Given the description of an element on the screen output the (x, y) to click on. 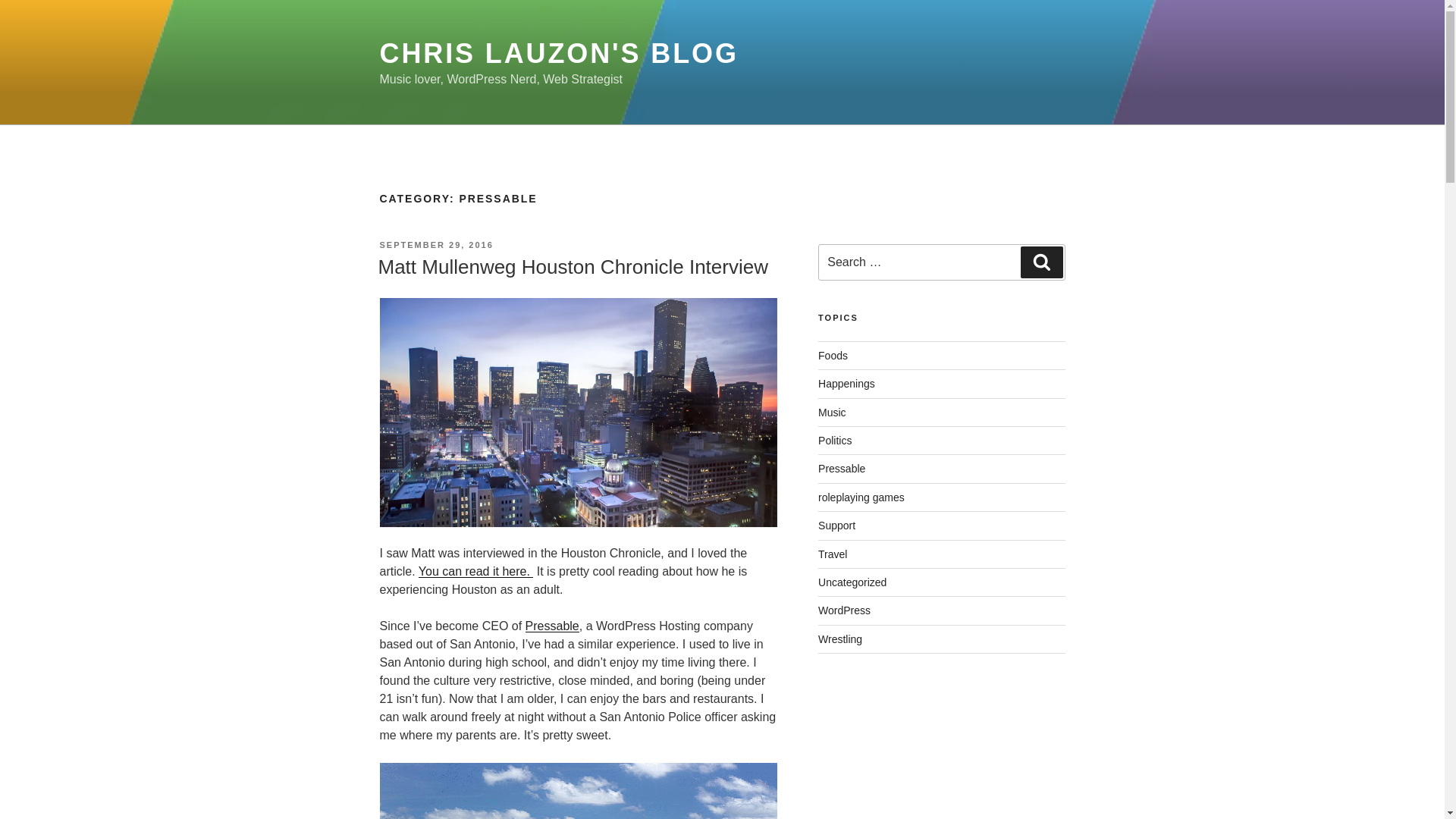
Pressable (841, 468)
Support (837, 525)
CHRIS LAUZON'S BLOG (558, 52)
Music (831, 412)
SEPTEMBER 29, 2016 (435, 244)
You can read it here.  (476, 571)
Happenings (846, 383)
Matt Mullenweg Houston Chronicle Interview (572, 266)
WordPress (844, 610)
Pressable (552, 625)
